Given the description of an element on the screen output the (x, y) to click on. 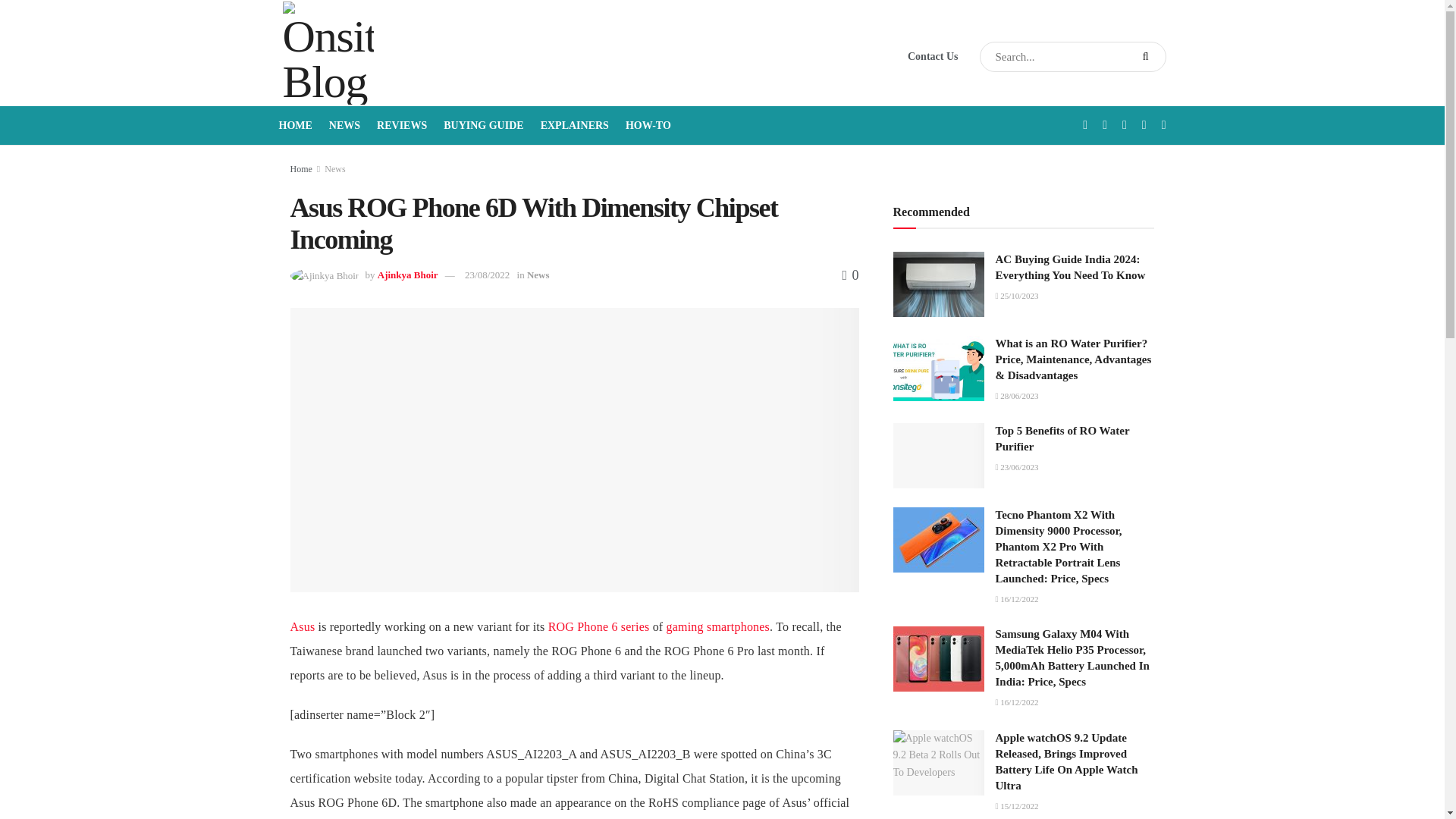
HOW-TO (648, 125)
News (538, 274)
gaming smartphones (718, 626)
Ajinkya Bhoir (407, 274)
Home (300, 168)
HOME (296, 125)
Contact Us (932, 56)
0 (850, 274)
BUYING GUIDE (483, 125)
EXPLAINERS (574, 125)
REVIEWS (401, 125)
News (334, 168)
Asus (301, 626)
ROG Phone 6 series (598, 626)
NEWS (344, 125)
